Given the description of an element on the screen output the (x, y) to click on. 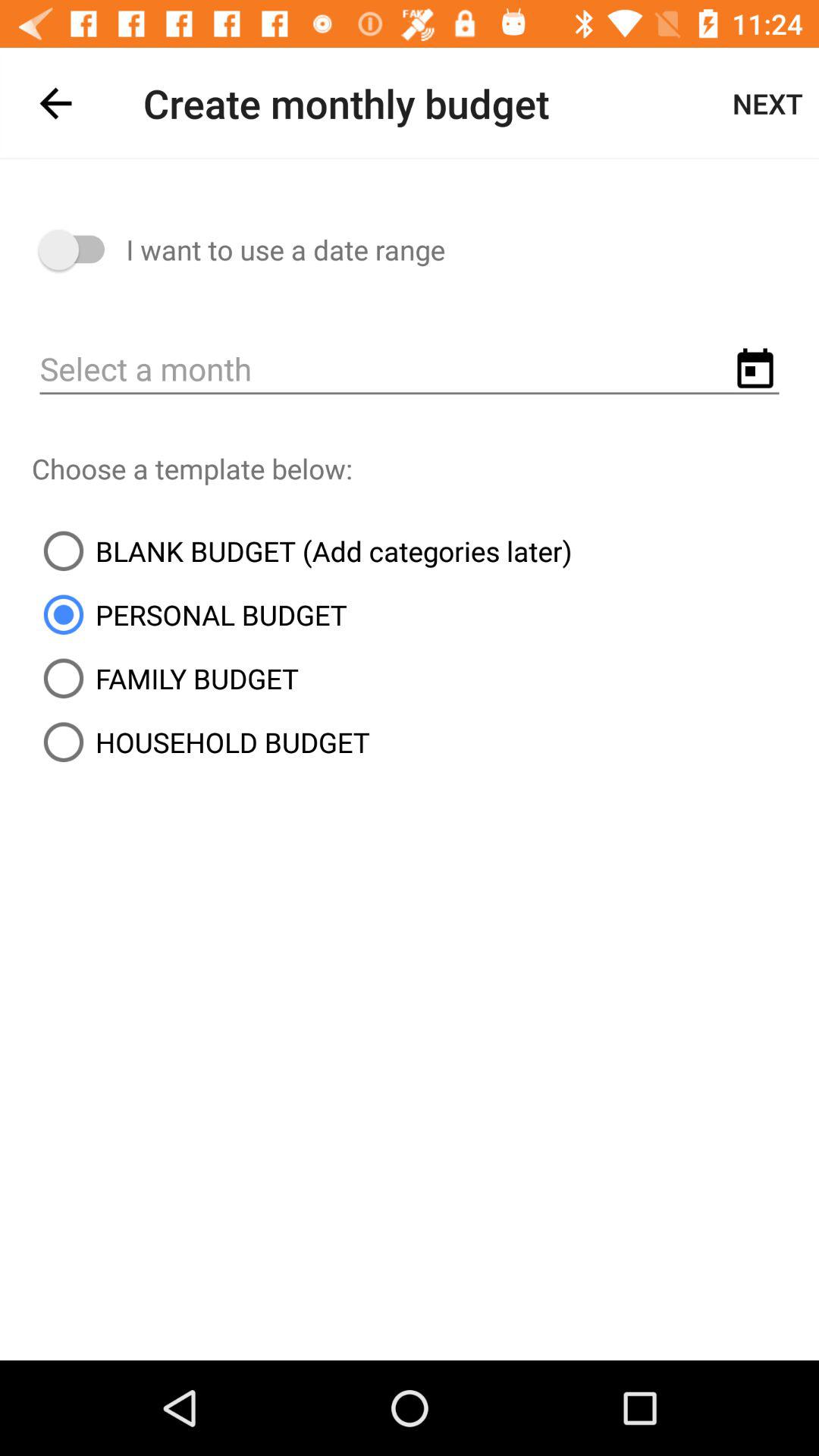
open item above the choose a template item (409, 370)
